Given the description of an element on the screen output the (x, y) to click on. 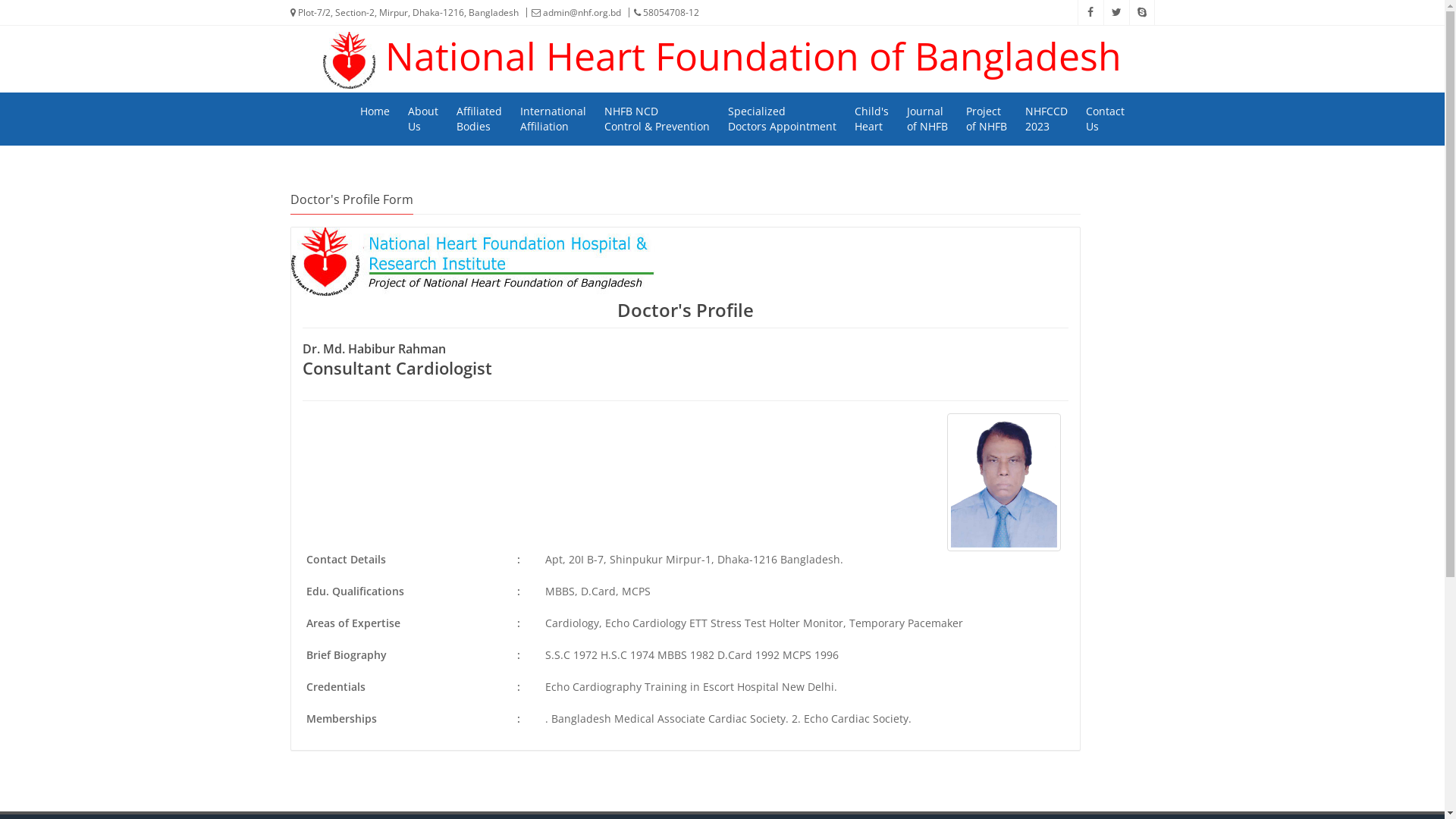
58054708-12 Element type: text (660, 12)
Project
of NHFB Element type: text (985, 118)
Contact
Us Element type: text (1104, 118)
About
Us Element type: text (421, 118)
Journal
of NHFB Element type: text (926, 118)
Plot-7/2, Section-2, Mirpur, Dhaka-1216, Bangladesh Element type: text (403, 12)
Home Element type: text (374, 111)
Affiliated
Bodies Element type: text (478, 118)
International
Affiliation Element type: text (552, 118)
admin@nhf.org.bd Element type: text (571, 12)
Specialized
Doctors Appointment Element type: text (781, 118)
Child's
Heart Element type: text (871, 118)
NHFB NCD
Control & Prevention Element type: text (657, 118)
NHFCCD
2023 Element type: text (1045, 118)
